Given the description of an element on the screen output the (x, y) to click on. 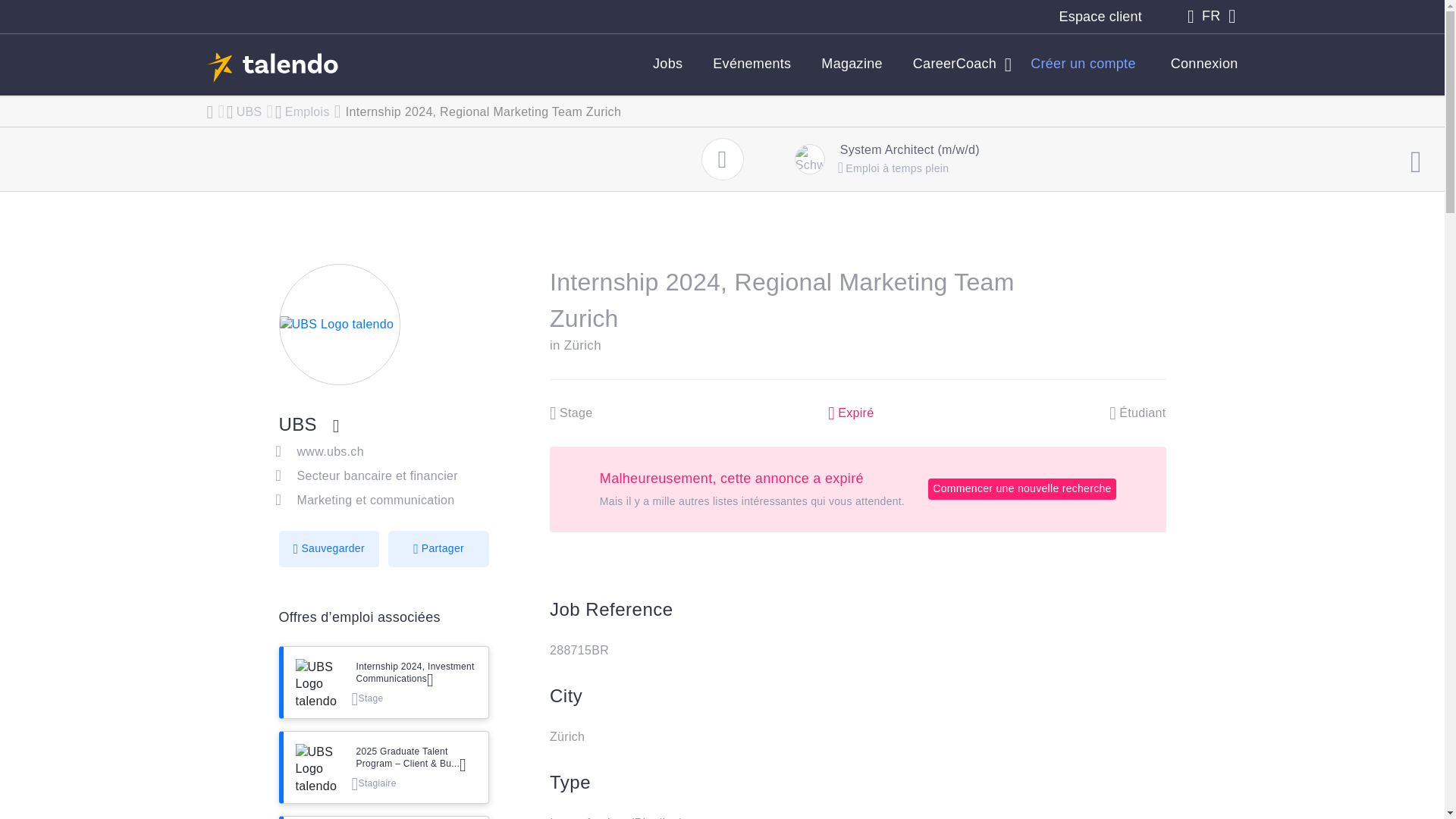
Espace client (1100, 16)
UBS Logo talendo (318, 682)
Magazine (851, 63)
UBS (247, 112)
Internship 2024, Investment Communications (416, 672)
Jobs (667, 63)
Schweizerische Bundesbahnen SBB Logo talendo (809, 158)
Marketing et communication (375, 499)
Sauvegarder (329, 548)
Emplois (306, 112)
www.ubs.ch (330, 451)
UBS (298, 424)
Connexion (1198, 63)
Secteur bancaire et financier (377, 475)
UBS Logo talendo (338, 324)
